Given the description of an element on the screen output the (x, y) to click on. 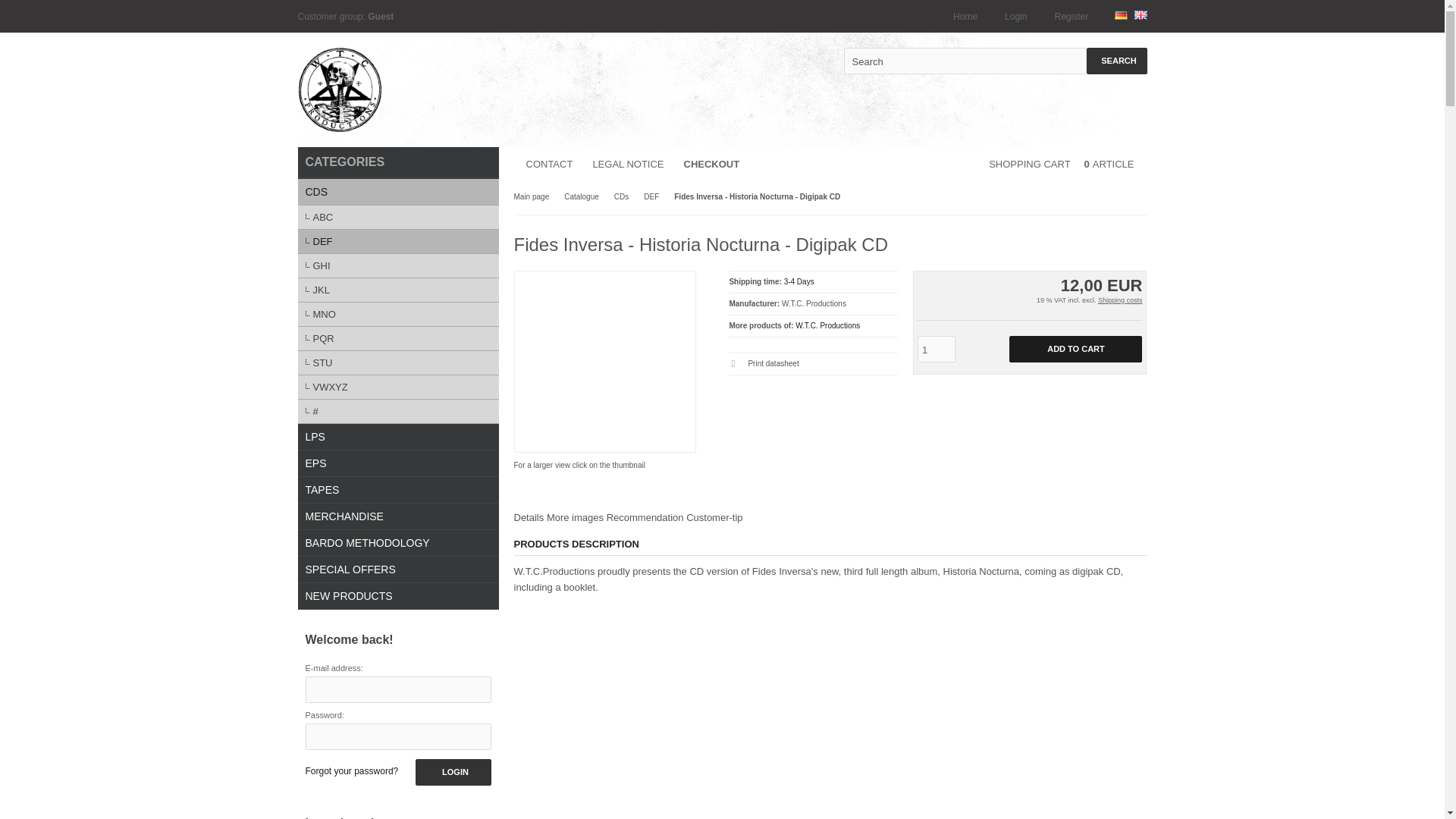
DEF (651, 196)
Legal Notice (625, 163)
Catalogue (581, 196)
Fides Inversa - Historia Nocturna - Digipak CD (536, 293)
CHECKOUT (709, 163)
English (1140, 14)
1 (936, 348)
W.T.C. Productions (827, 325)
Deutsch (1120, 14)
Login (1013, 16)
3-4 Days (798, 281)
Print datasheet (812, 363)
Register (1068, 16)
Information (798, 281)
Main page (531, 196)
